Given the description of an element on the screen output the (x, y) to click on. 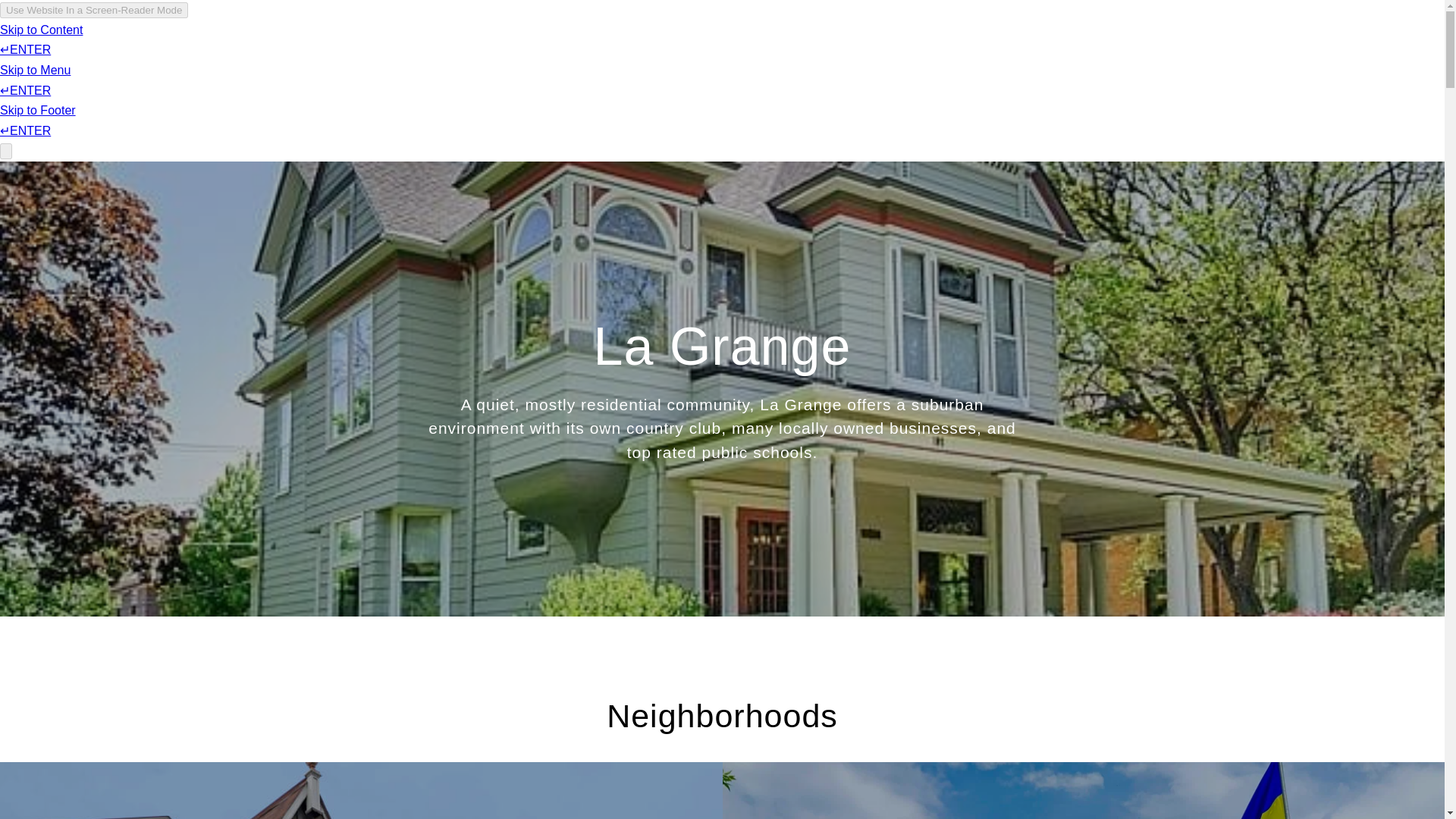
PRESS (1067, 55)
OUR GROUP (601, 55)
BLOG (1010, 55)
CONTACT US (1143, 55)
NEIGHBORHOODS (925, 55)
TRANSACTIONS (807, 55)
TESTIMONIALS (699, 55)
